Given the description of an element on the screen output the (x, y) to click on. 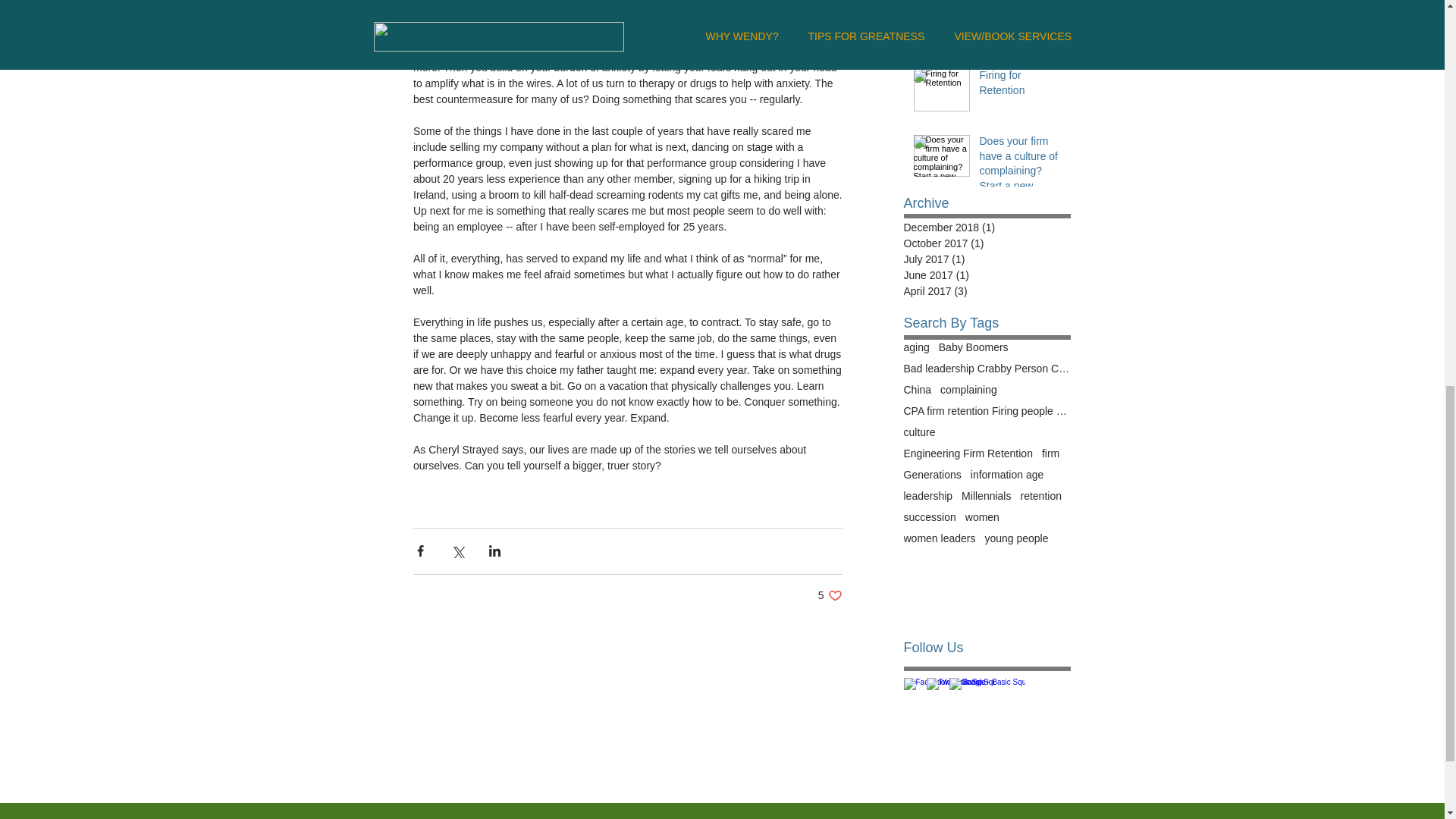
Generations (932, 474)
firm (1050, 453)
information age (1007, 474)
Bad leadership Crabby Person Coaching (987, 368)
complaining (968, 389)
women (981, 517)
succession (830, 595)
culture (930, 517)
Firing for Retention (920, 431)
